Given the description of an element on the screen output the (x, y) to click on. 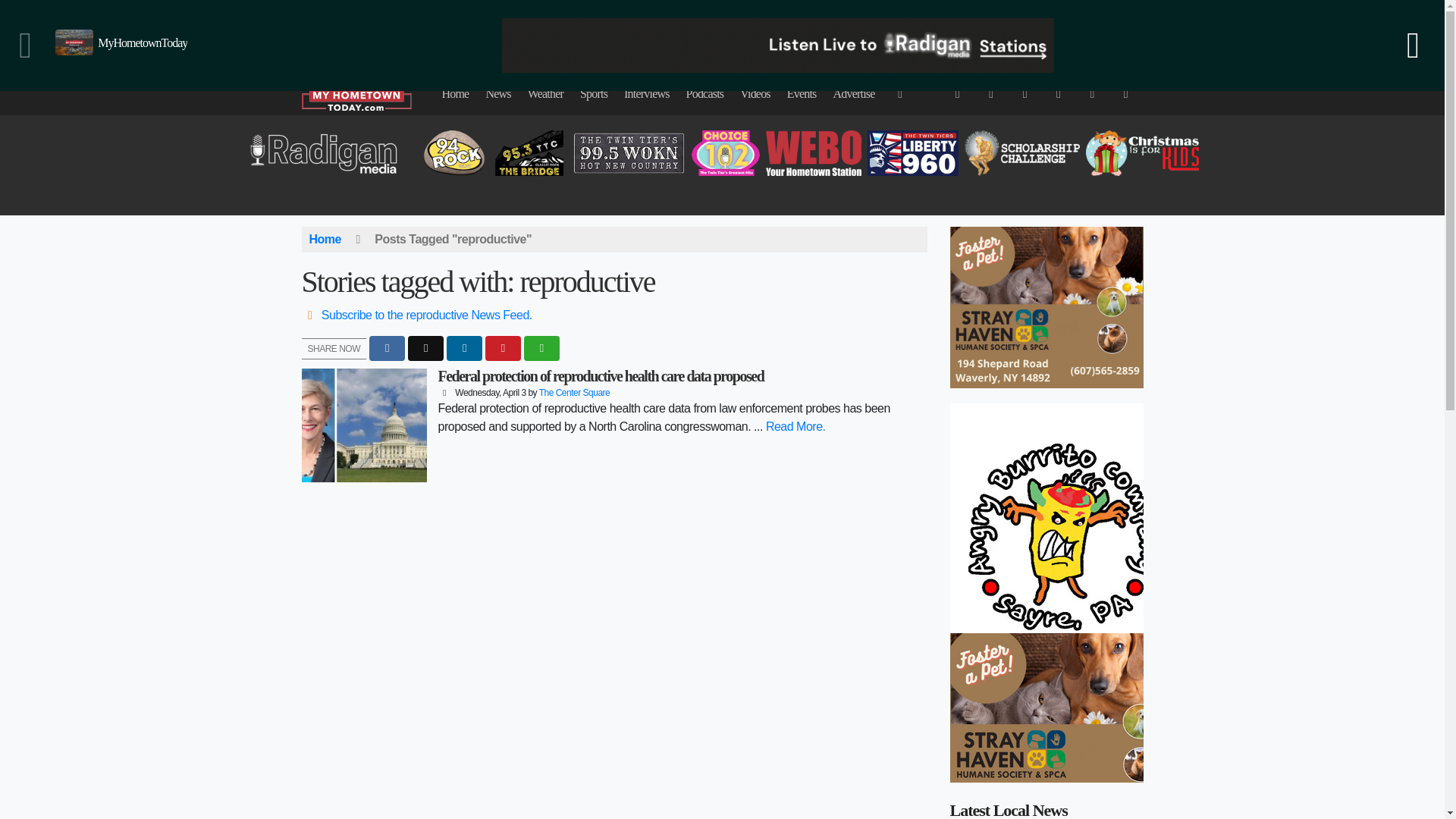
Get our Android App (951, 24)
Follow us on X (987, 13)
Follow us on Youtube (1061, 13)
Get our iOS App (1098, 13)
Follow us on Facebook (951, 13)
Follow us on Instagram (1025, 13)
MyHometownToday.com (367, 17)
